Given the description of an element on the screen output the (x, y) to click on. 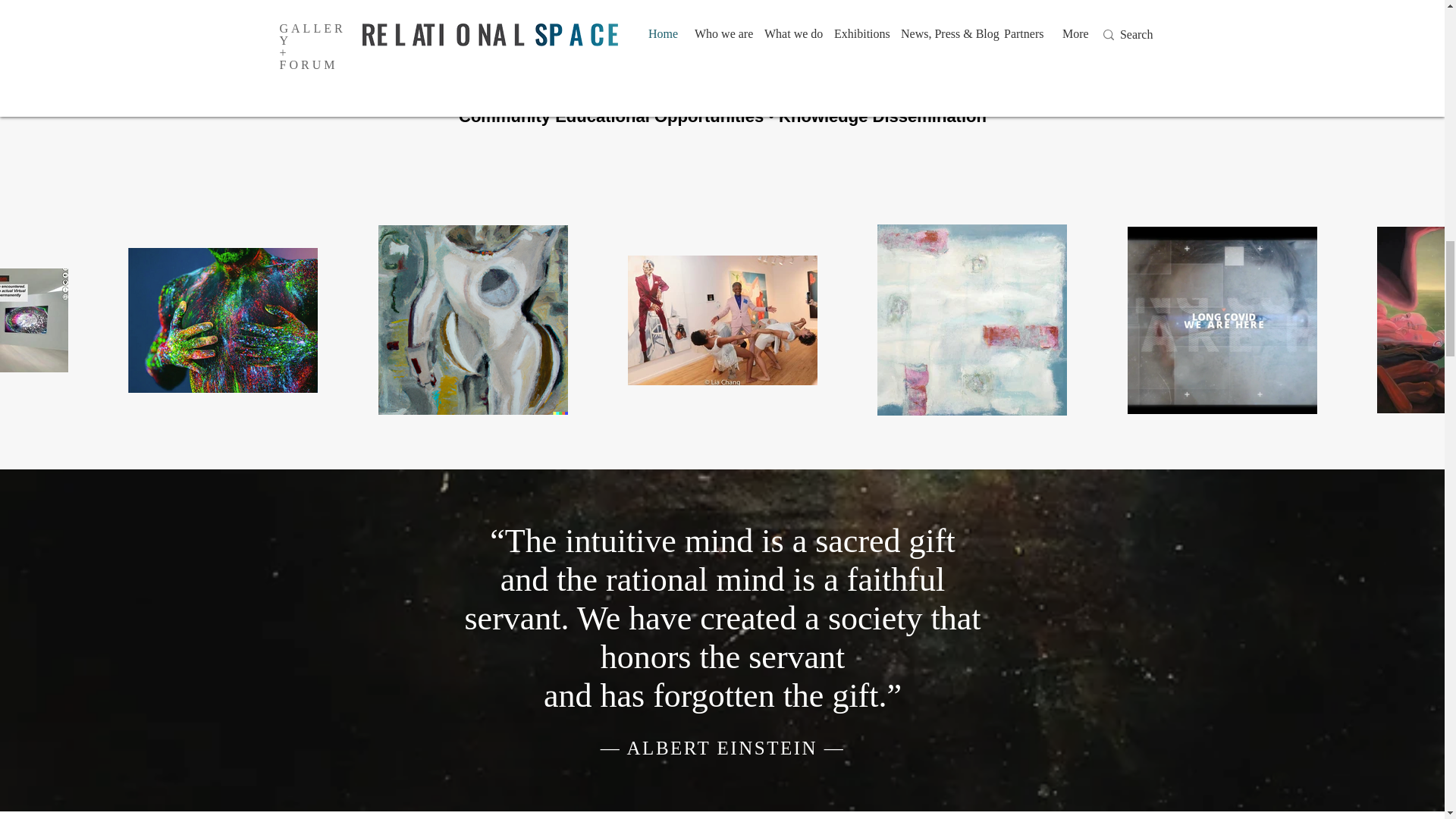
READ MORE (722, 48)
